Given the description of an element on the screen output the (x, y) to click on. 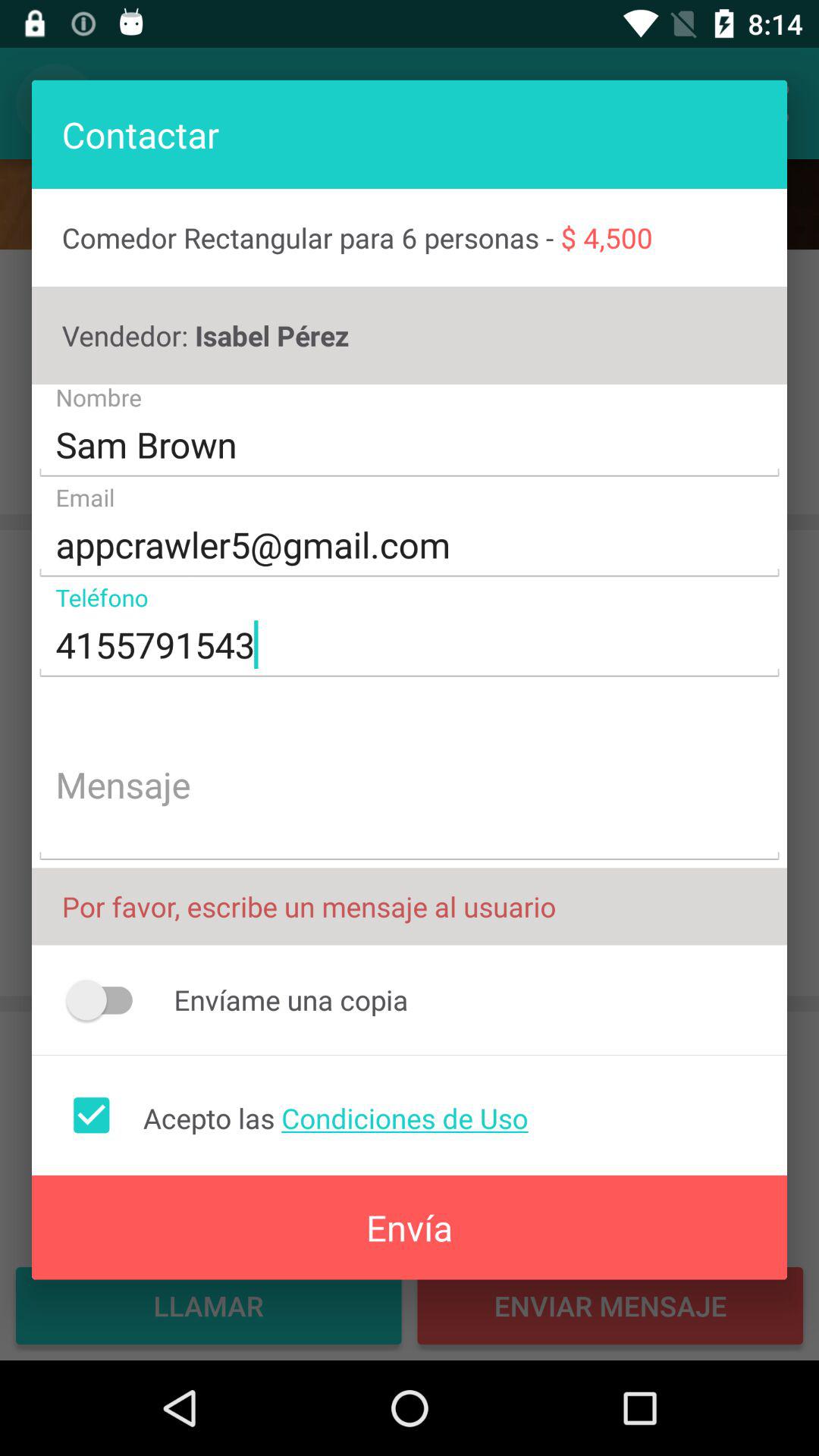
select appcrawler5@gmail.com (409, 545)
